Given the description of an element on the screen output the (x, y) to click on. 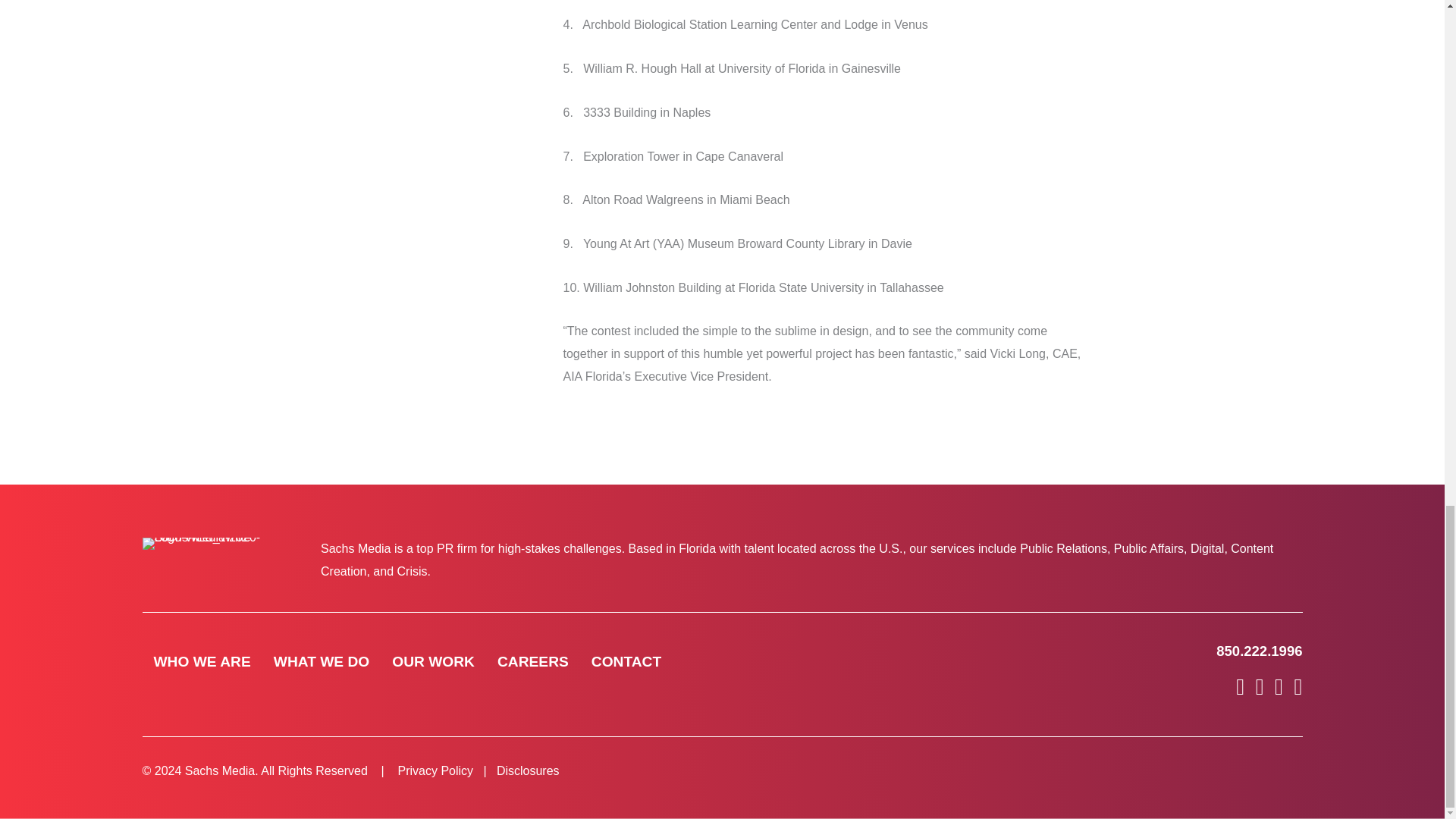
850.222.1996 (1258, 650)
WHAT WE DO (321, 661)
Disclosures (527, 770)
Privacy Policy (435, 770)
CAREERS (532, 661)
CONTACT (625, 661)
WHO WE ARE (201, 661)
OUR WORK (432, 661)
